Given the description of an element on the screen output the (x, y) to click on. 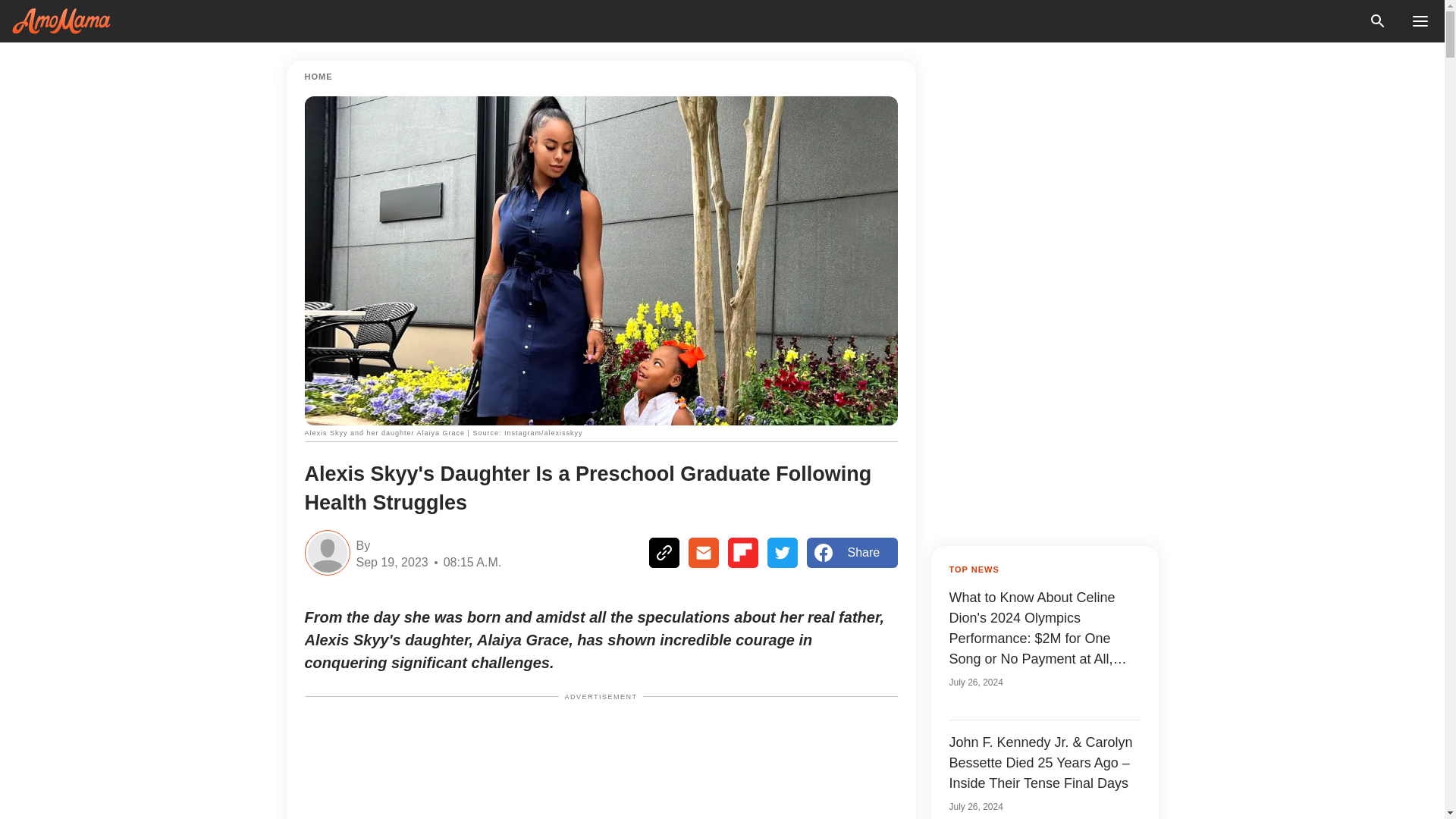
Share (852, 552)
HOME (318, 76)
